Given the description of an element on the screen output the (x, y) to click on. 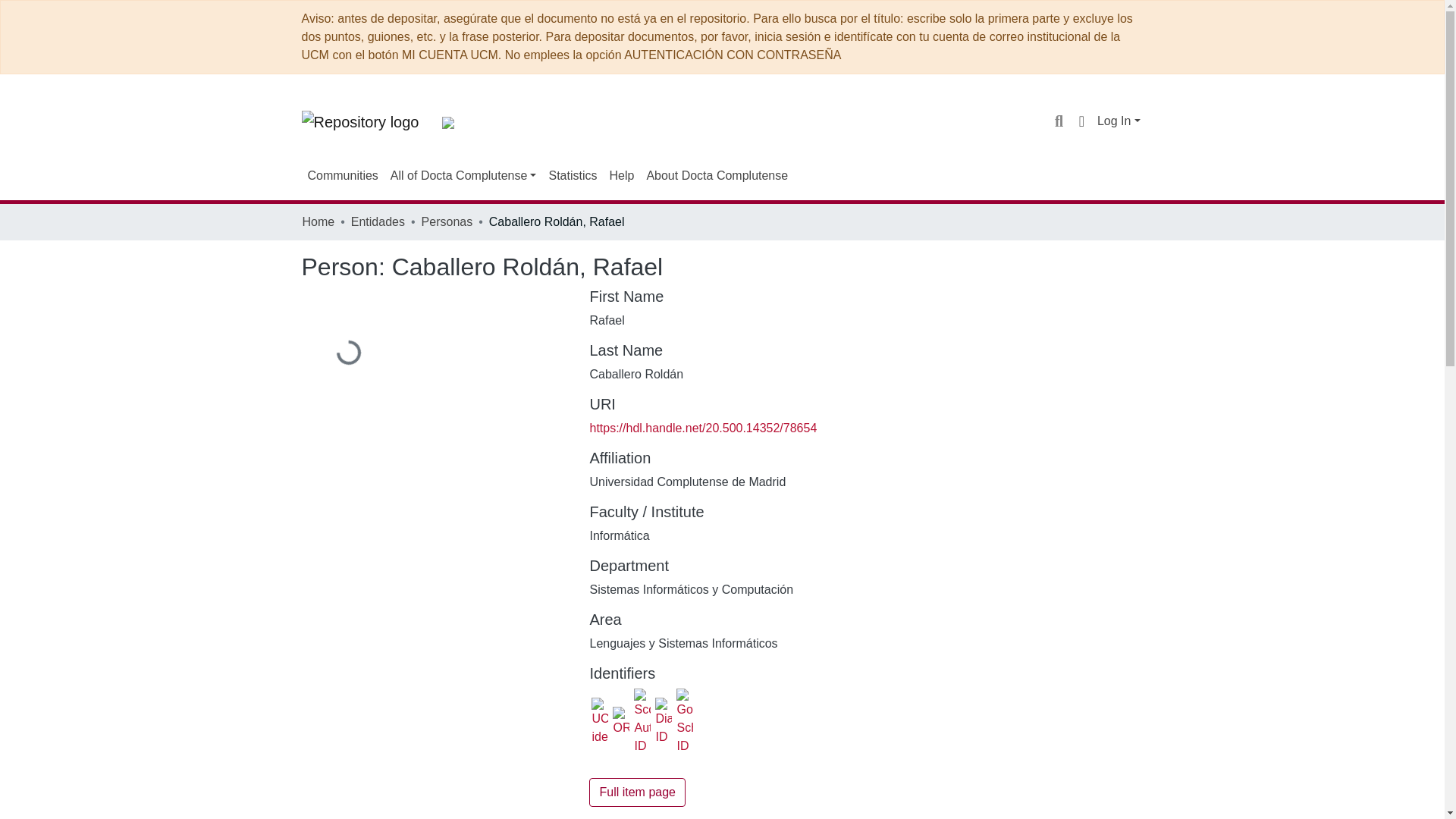
UCM identifier (599, 721)
About Docta Complutense (716, 175)
Entidades (377, 221)
Home (317, 221)
Help (621, 175)
Scopus Author ID (641, 721)
Help (621, 175)
Google Scholar ID (685, 721)
All of Docta Complutense (463, 175)
Log In (1118, 120)
Dialnet ID (663, 721)
Search (1058, 121)
Language switch (1081, 121)
Statistics (571, 175)
Personas (447, 221)
